Given the description of an element on the screen output the (x, y) to click on. 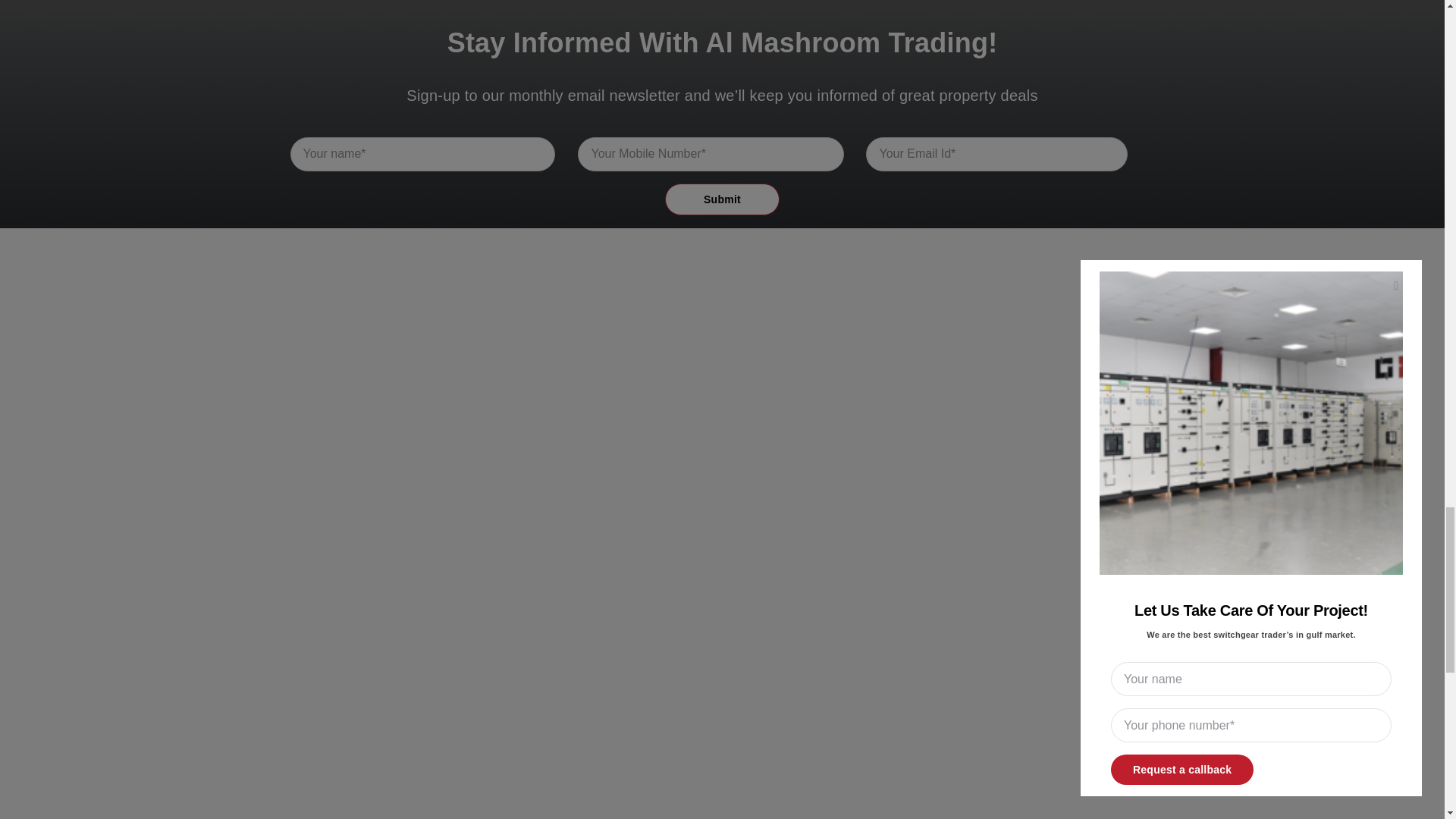
Submit (721, 199)
Submit (721, 193)
